Given the description of an element on the screen output the (x, y) to click on. 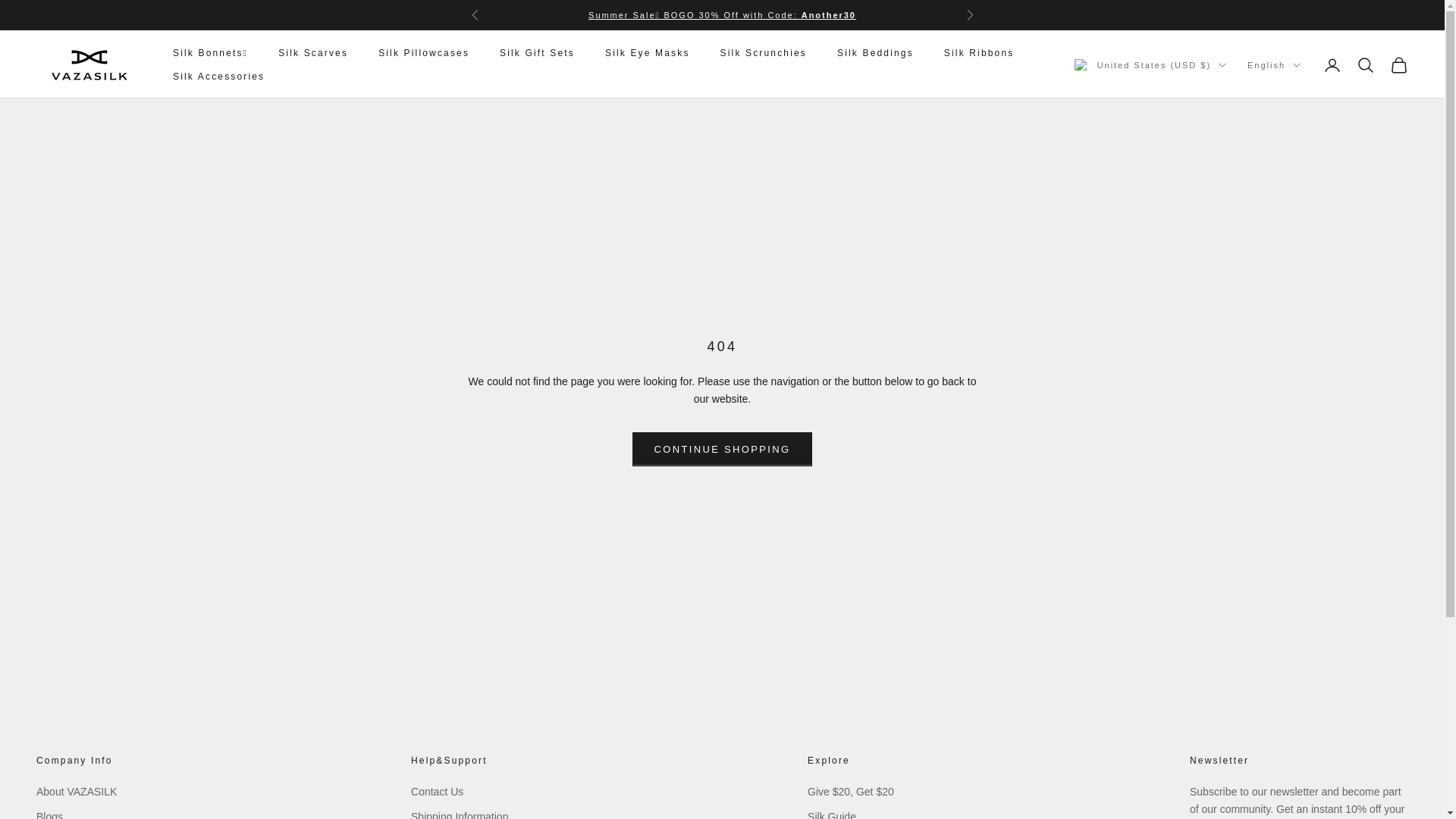
Silk Scarves (312, 52)
Silk Gift Sets (537, 52)
Silk Eye Masks (647, 52)
Silk Bonnets (722, 14)
Silk Pillowcases (423, 52)
Silk Beddings (875, 52)
Silk Ribbons (978, 52)
Silk Accessories (218, 76)
Silk Scrunchies (763, 52)
VAZASILK (89, 64)
